Given the description of an element on the screen output the (x, y) to click on. 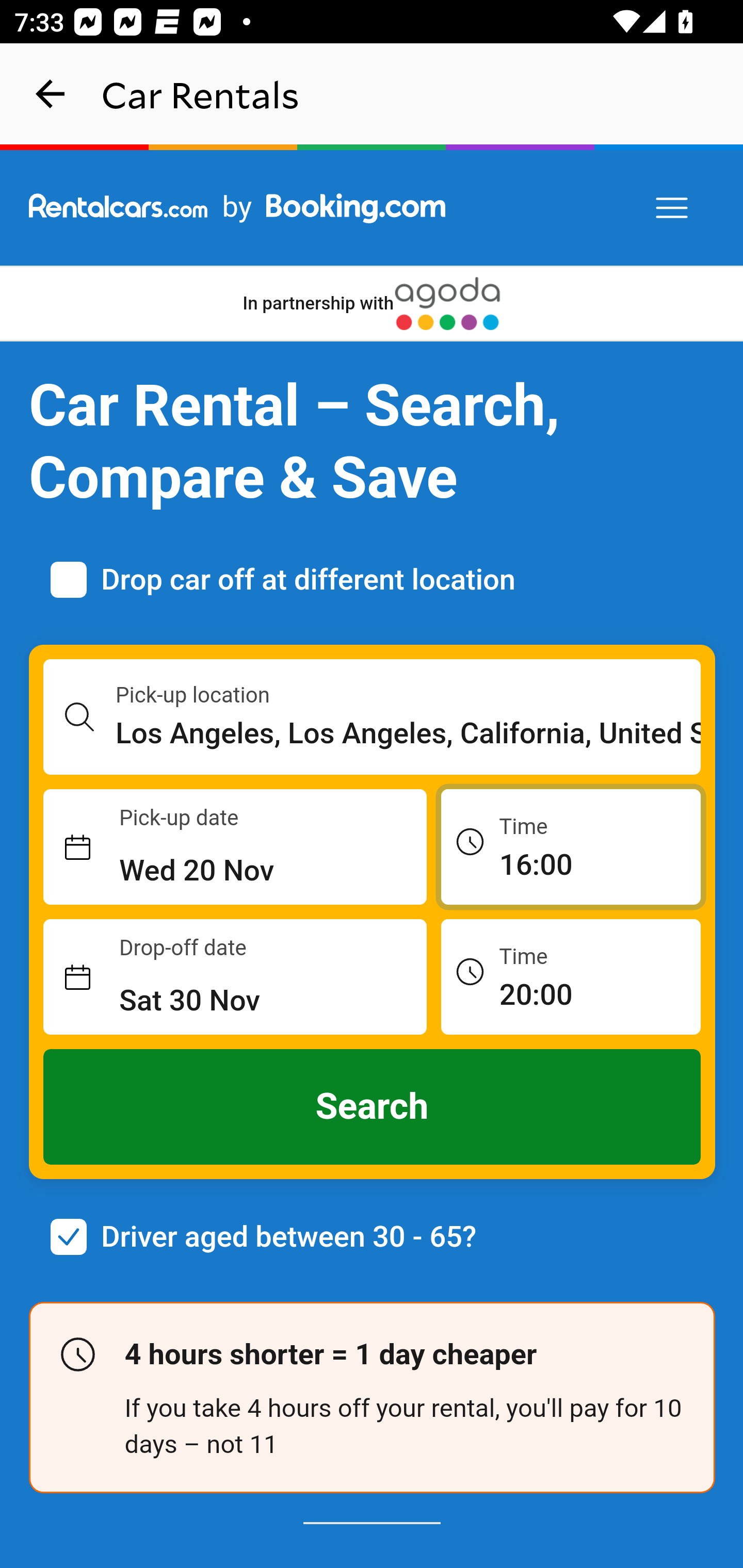
navigation_button (50, 93)
Menu (672, 208)
Pick-up date Wed 20 Nov (235, 847)
16:00 (571, 845)
Drop-off date Sat 30 Nov (235, 977)
20:00 (571, 975)
Search (372, 1106)
